Given the description of an element on the screen output the (x, y) to click on. 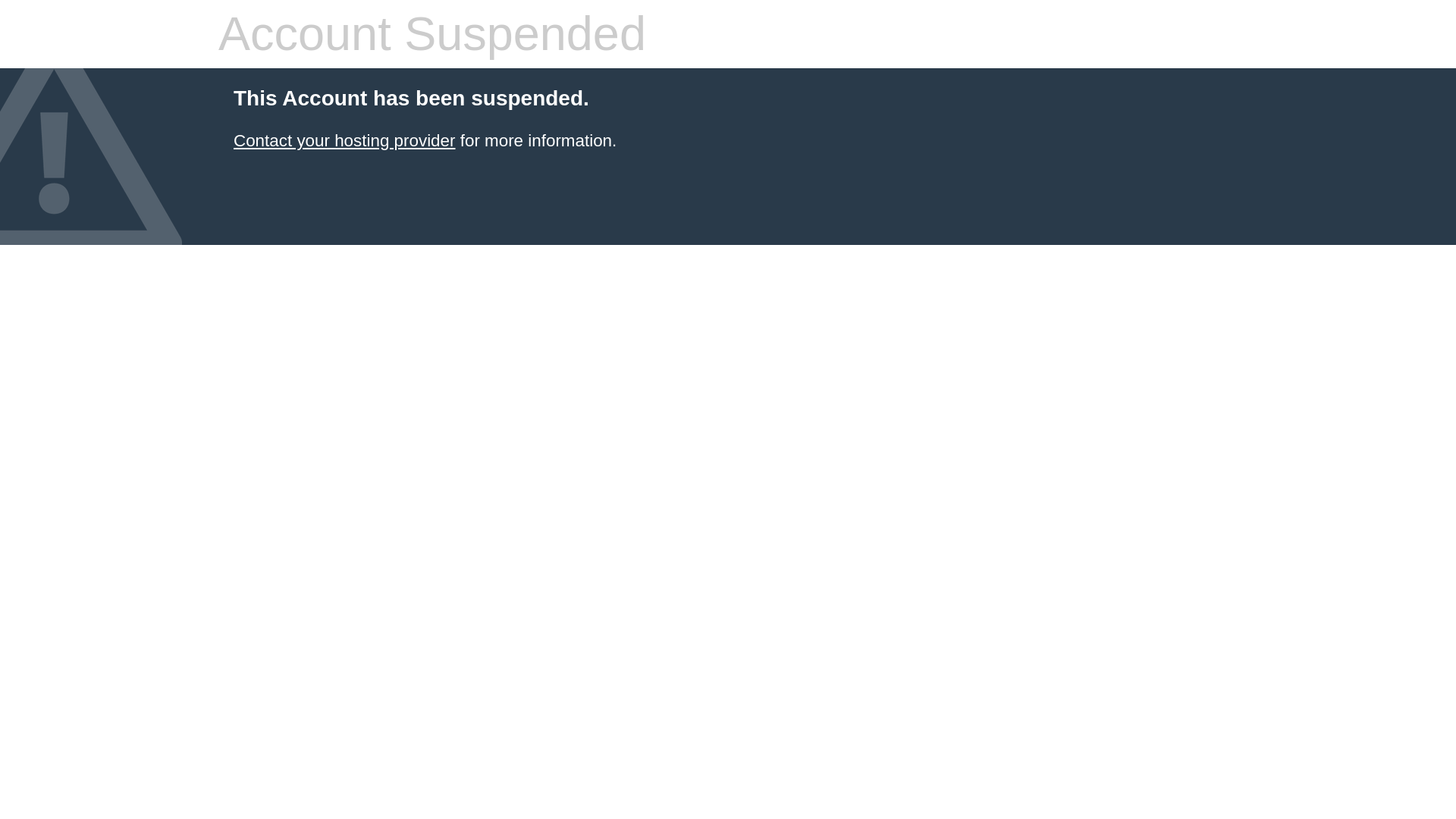
Contact your hosting provider (343, 140)
